Given the description of an element on the screen output the (x, y) to click on. 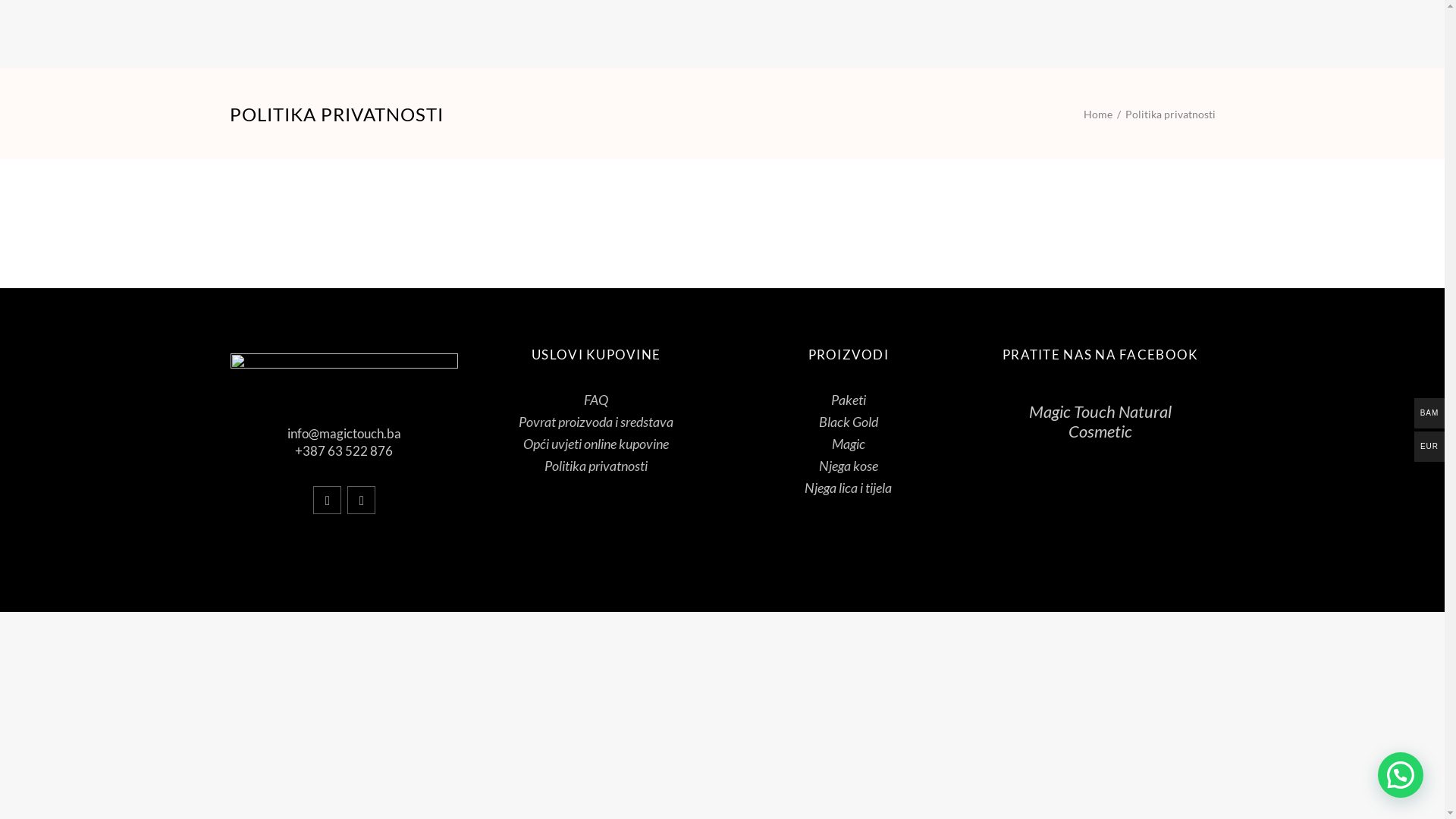
Njega kose Element type: text (848, 465)
Politika privatnosti Element type: text (595, 465)
Home Element type: text (1096, 113)
Magic Element type: text (848, 443)
Paketi Element type: text (848, 399)
Black Gold Element type: text (848, 421)
Njega lica i tijela Element type: text (847, 487)
Povrat proizvoda i sredstava Element type: text (595, 421)
info@magictouch.ba Element type: text (344, 433)
+387 63 522 876 Element type: text (343, 450)
FAQ Element type: text (595, 399)
Magic Touch Natural Cosmetic Element type: text (1100, 421)
